Given the description of an element on the screen output the (x, y) to click on. 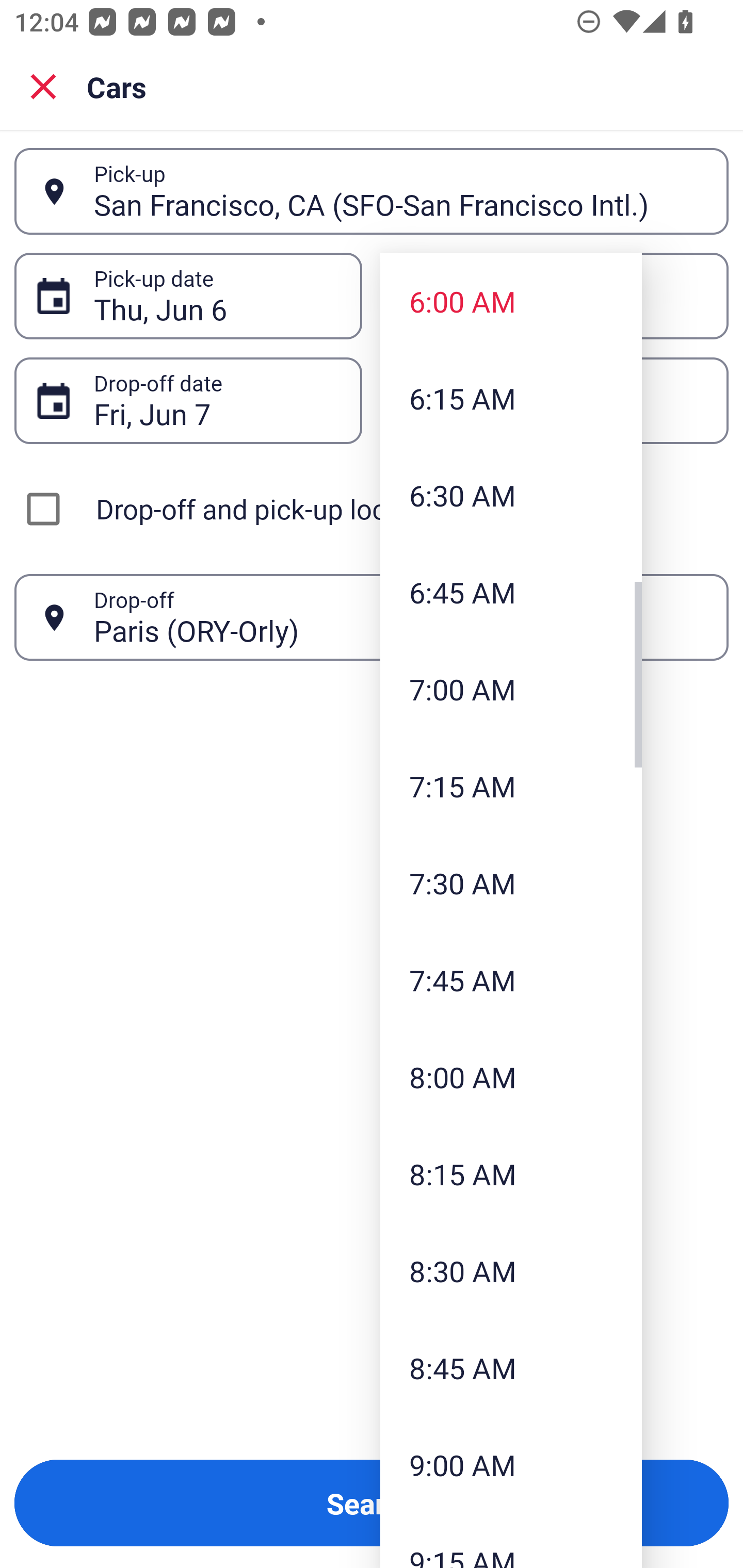
6:00 AM (510, 300)
6:15 AM (510, 397)
6:30 AM (510, 495)
6:45 AM (510, 592)
7:00 AM (510, 688)
7:15 AM (510, 785)
7:30 AM (510, 882)
7:45 AM (510, 979)
8:00 AM (510, 1076)
8:15 AM (510, 1174)
8:30 AM (510, 1270)
8:45 AM (510, 1366)
9:00 AM (510, 1464)
